Given the description of an element on the screen output the (x, y) to click on. 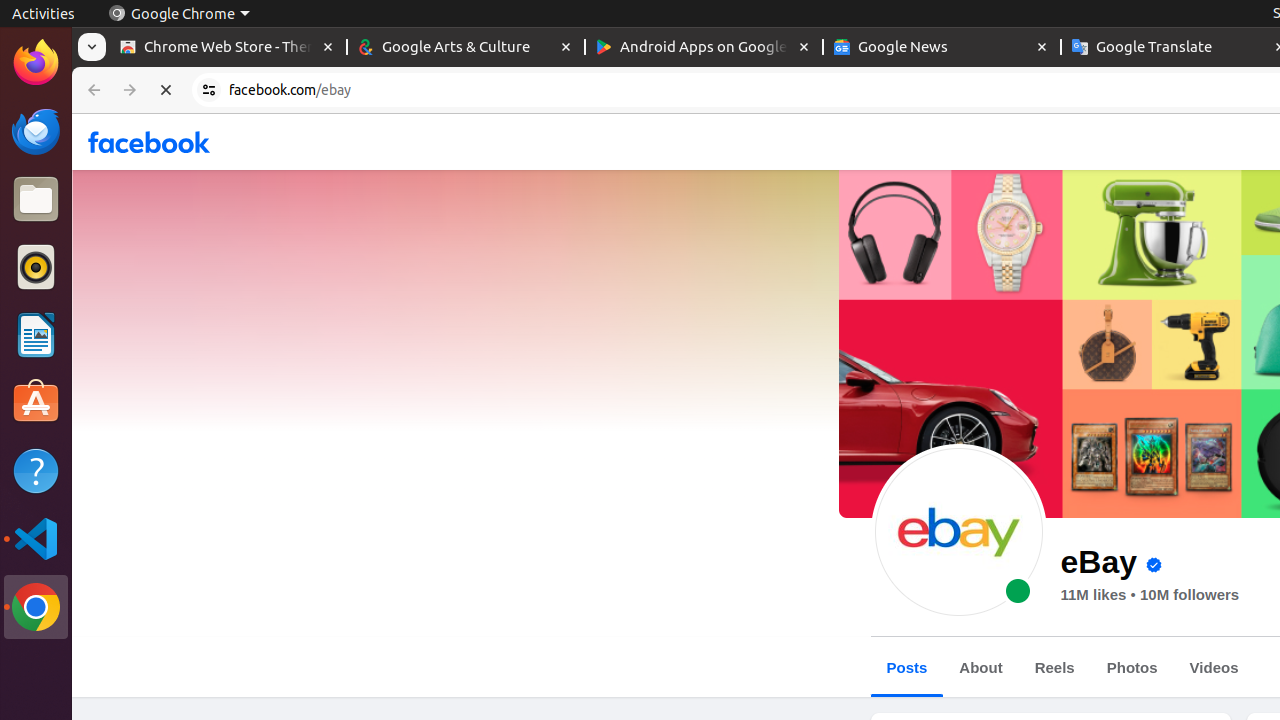
View site information Element type: push-button (209, 90)
Help Element type: push-button (36, 470)
Back Element type: push-button (91, 90)
Reload Element type: push-button (166, 90)
Visual Studio Code Element type: push-button (36, 538)
